Given the description of an element on the screen output the (x, y) to click on. 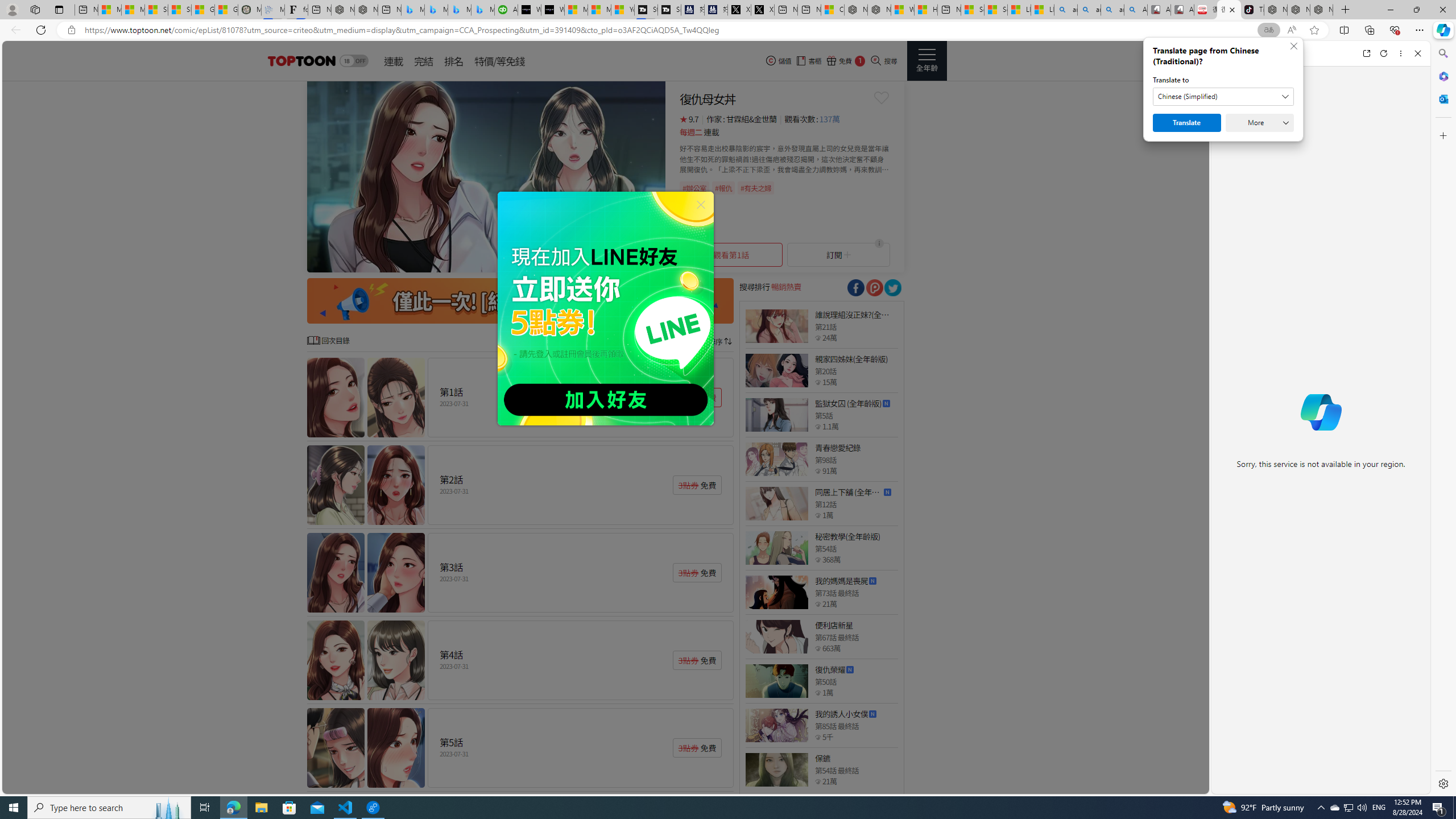
Amazon Echo Robot - Search Images (1135, 9)
Accounting Software for Accountants, CPAs and Bookkeepers (505, 9)
Show translate options (1268, 29)
Open link in new tab (1366, 53)
Microsoft 365 (1442, 76)
